Given the description of an element on the screen output the (x, y) to click on. 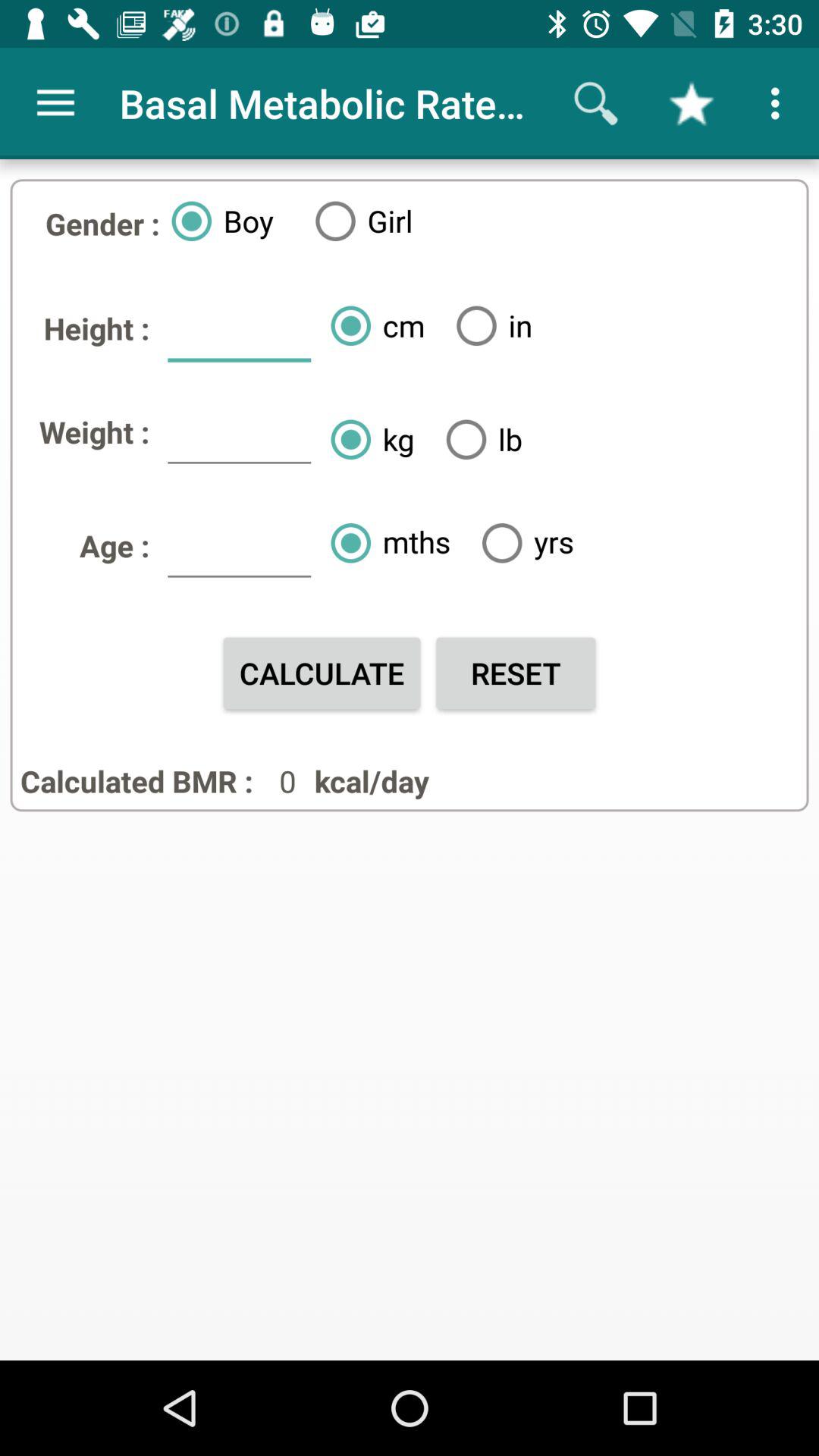
launch icon next to basal metabolic rate app (55, 103)
